Given the description of an element on the screen output the (x, y) to click on. 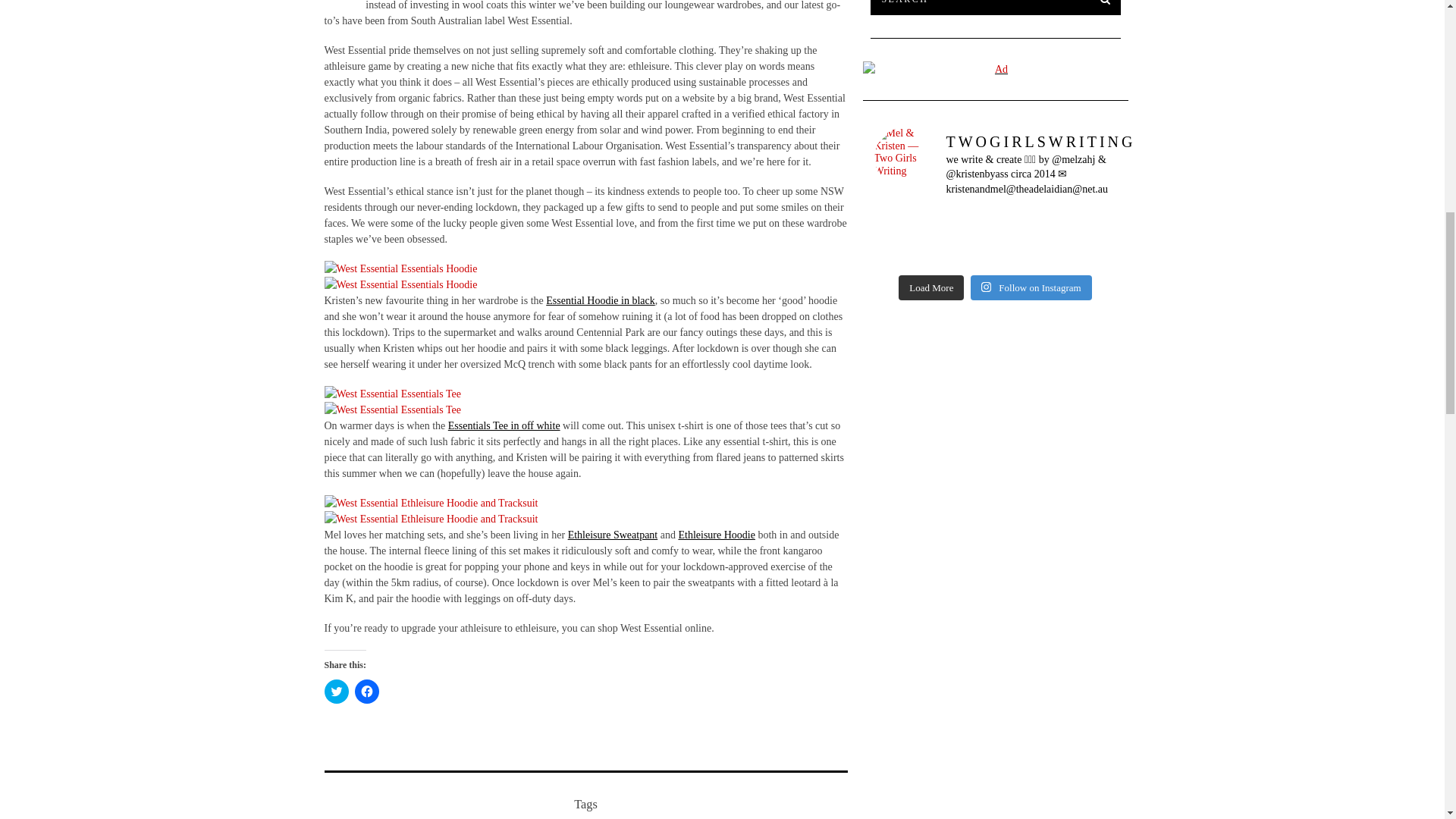
Search (995, 7)
Click to share on Facebook (366, 691)
Click to share on Twitter (336, 691)
